Given the description of an element on the screen output the (x, y) to click on. 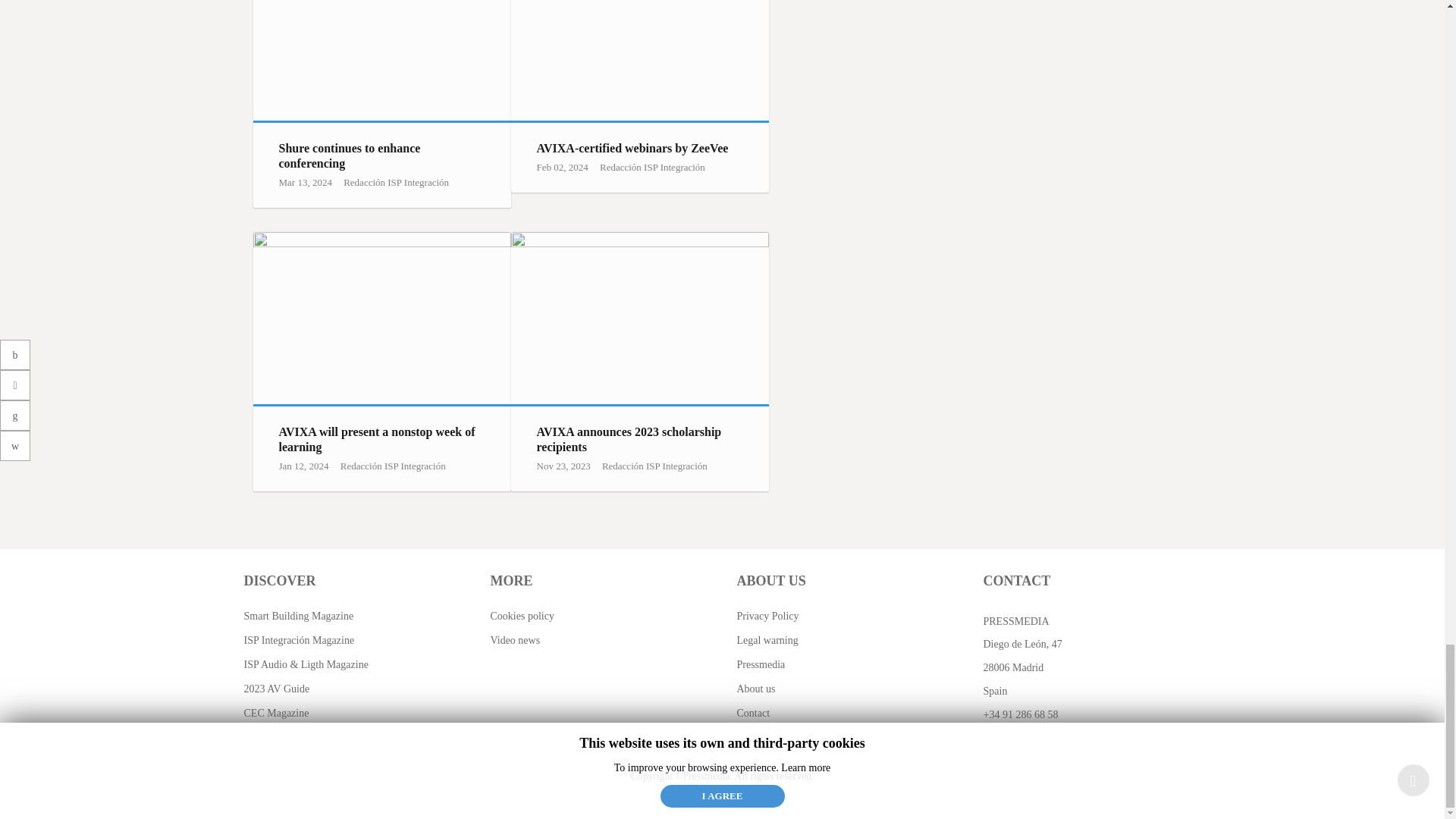
AVIXA announces 2023 scholarship recipients (639, 317)
AVIXA-certified webinars by ZeeVee (639, 60)
Shure continues to enhance conferencing (382, 60)
